Given the description of an element on the screen output the (x, y) to click on. 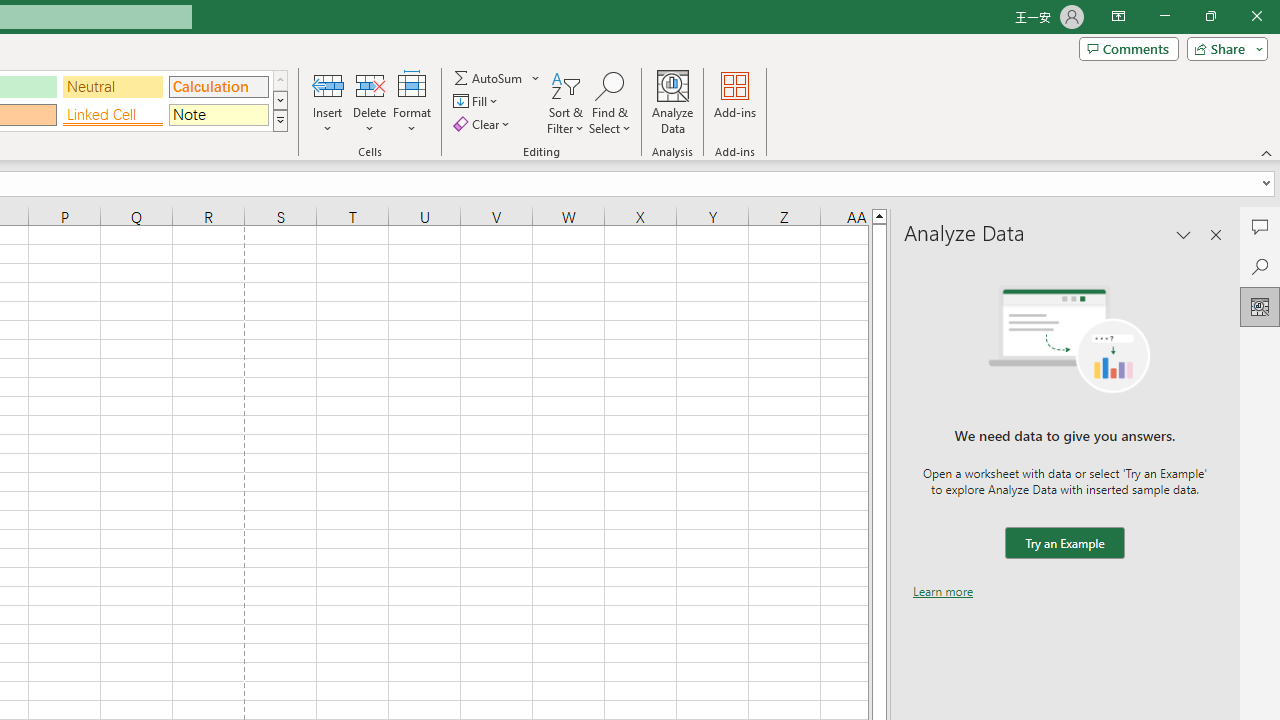
Learn more (943, 591)
Sum (489, 78)
Row up (280, 79)
Delete Cells... (369, 84)
Linked Cell (113, 114)
Insert Cells (328, 84)
AutoSum (497, 78)
Fill (477, 101)
